Given the description of an element on the screen output the (x, y) to click on. 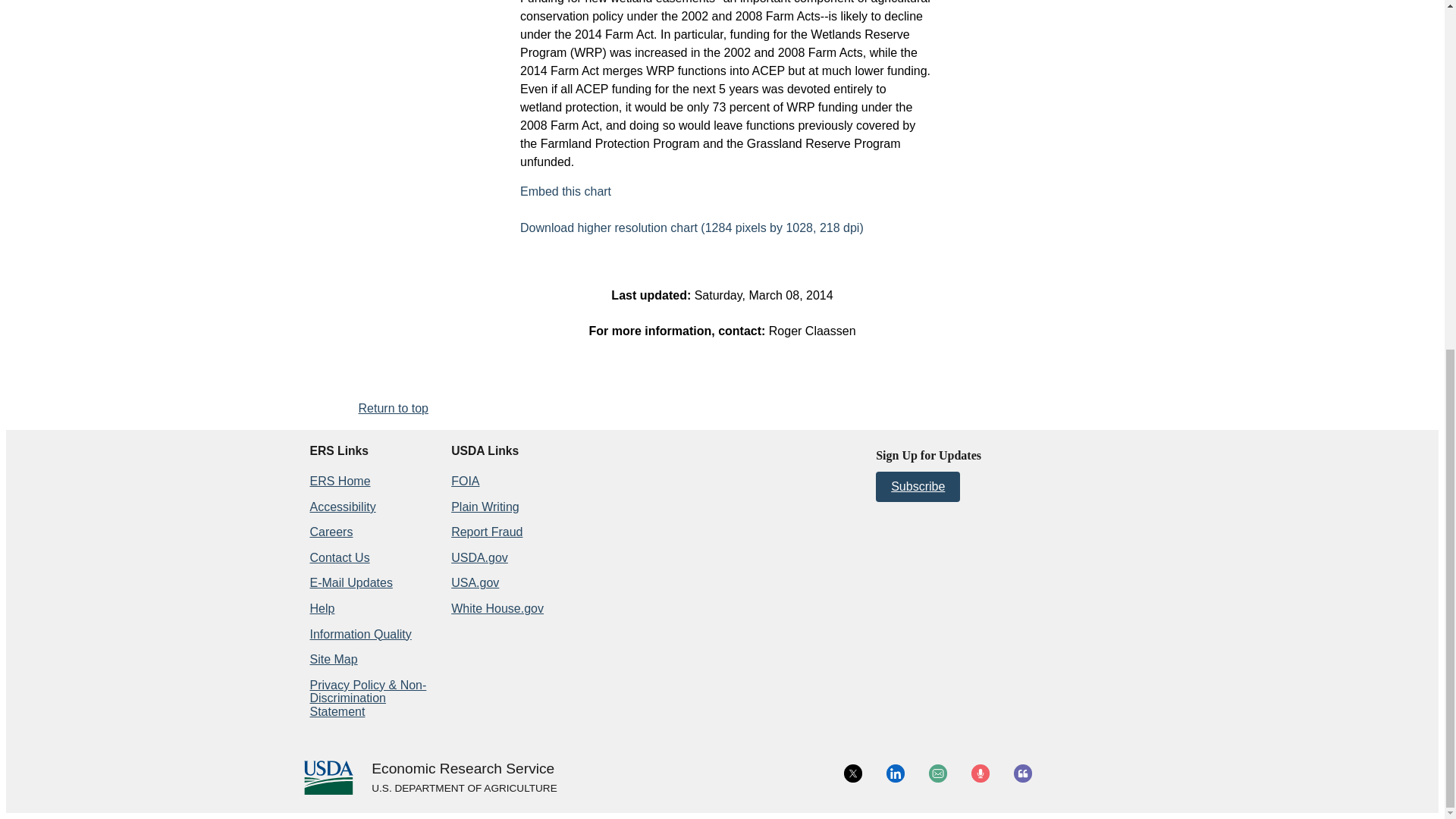
Return to top (393, 408)
Embed this chart (565, 191)
Home (462, 768)
Help (321, 608)
Careers (330, 531)
Multimedia Icon (979, 773)
Contact Us (338, 557)
Blog Icon (1021, 773)
Report Fraud (486, 531)
ERS Home (338, 481)
Plain Writing (485, 506)
Information Quality (359, 634)
FOIA (465, 481)
LinkedIn icon (894, 773)
